Given the description of an element on the screen output the (x, y) to click on. 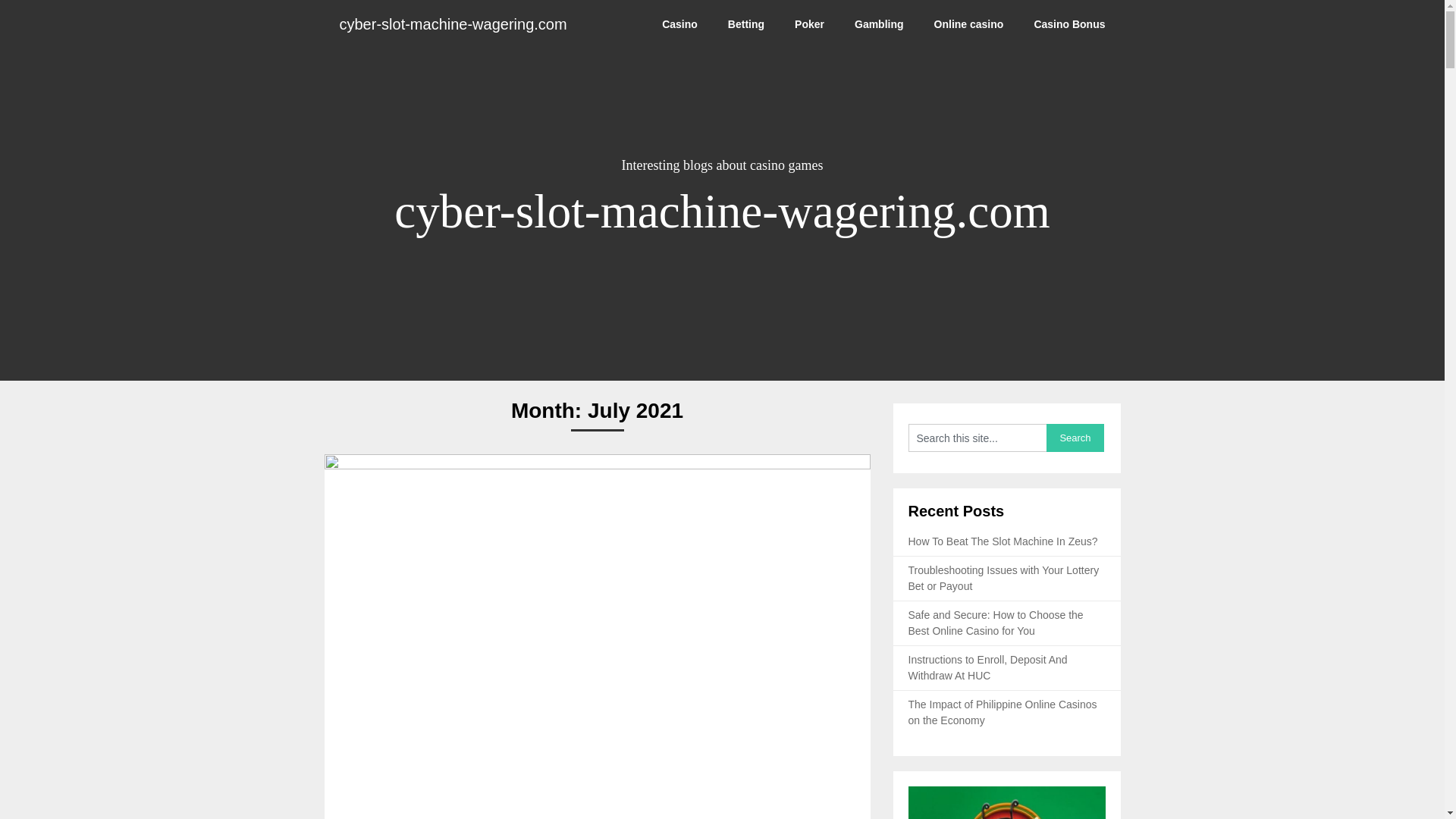
Poker (809, 24)
Gambling (879, 24)
Search (1075, 438)
Instructions to Enroll, Deposit And Withdraw At HUC (987, 667)
Search (1075, 438)
How To Beat The Slot Machine In Zeus? (1002, 541)
Troubleshooting Issues with Your Lottery Bet or Payout (1003, 578)
Casino (679, 24)
Casino Bonus (1068, 24)
